Given the description of an element on the screen output the (x, y) to click on. 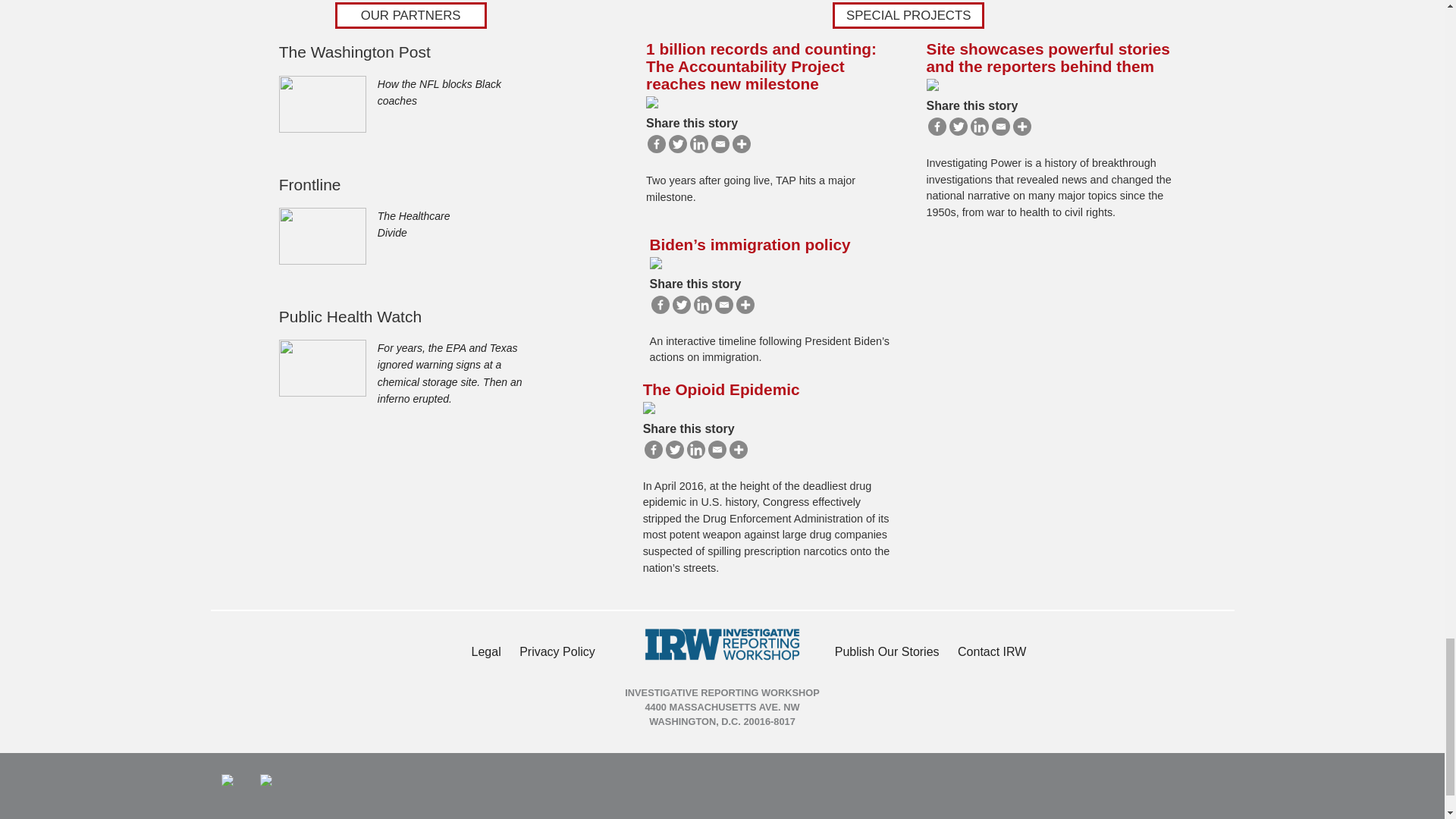
Twitter (677, 144)
Twitter (681, 304)
Linkedin (698, 144)
Email (720, 144)
Facebook (937, 126)
More (1021, 126)
Facebook (656, 144)
Facebook (659, 304)
Linkedin (979, 126)
Twitter (958, 126)
